Given the description of an element on the screen output the (x, y) to click on. 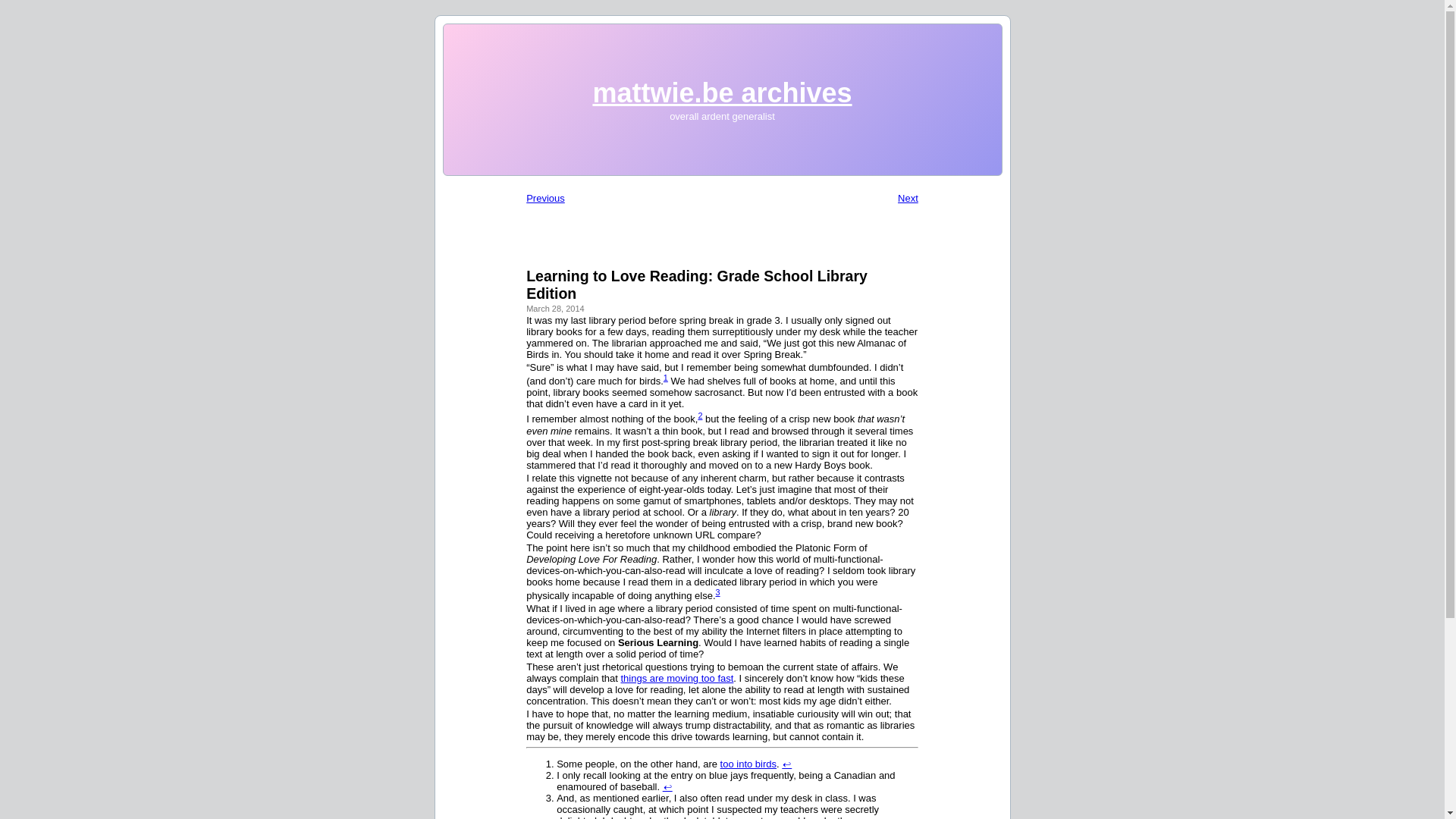
too into birds (748, 763)
Next (908, 197)
mattwie.be archives (721, 92)
Previous (544, 197)
things are moving too fast (676, 677)
